Given the description of an element on the screen output the (x, y) to click on. 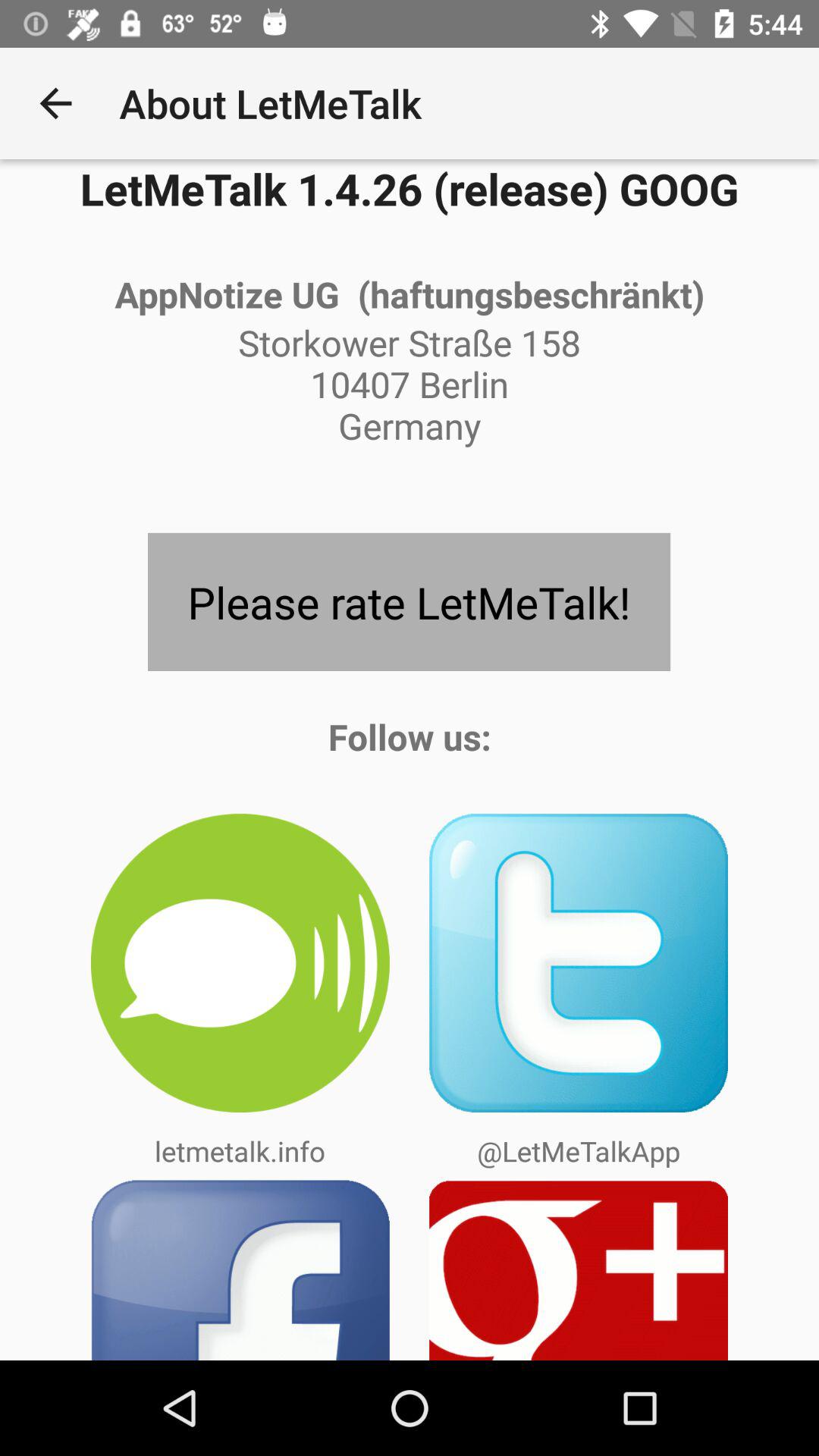
select the icon below 
follow us:
 app (578, 962)
